Given the description of an element on the screen output the (x, y) to click on. 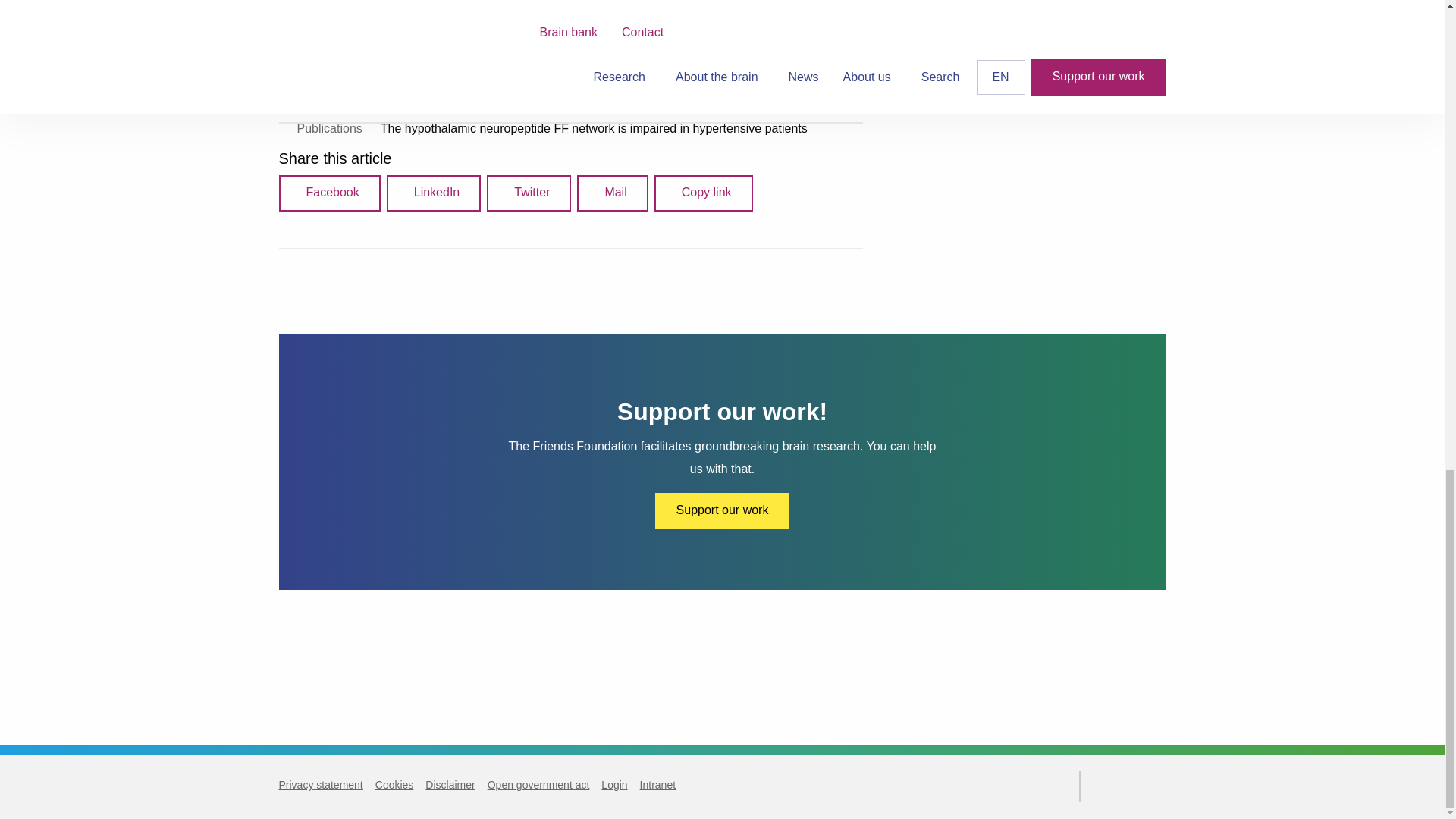
Share via mail (611, 193)
Share on LinkedIn (434, 193)
Share link (702, 193)
Tweet (528, 193)
Share on Facebook (329, 193)
